Given the description of an element on the screen output the (x, y) to click on. 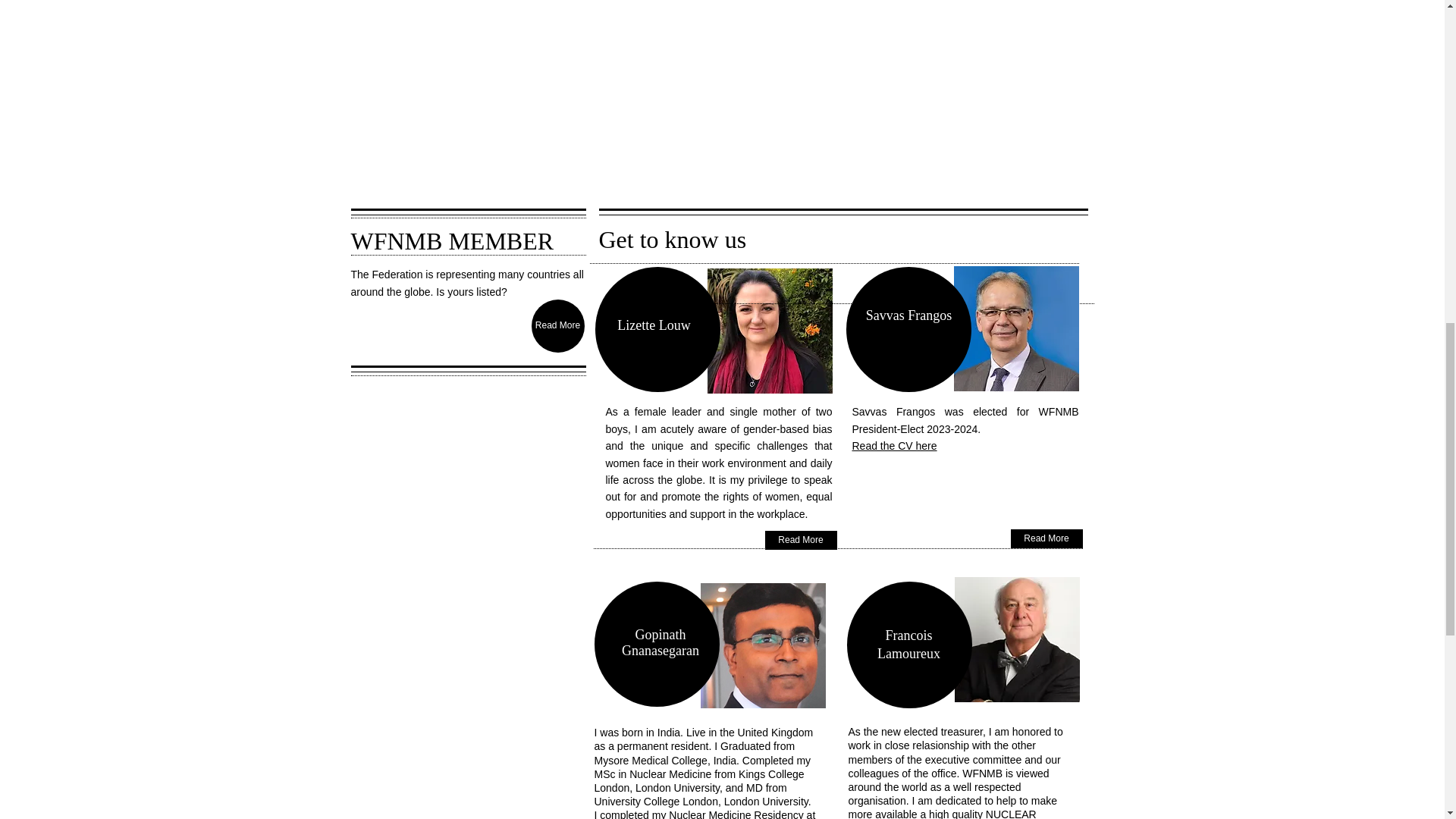
Read More (799, 539)
Read More (1045, 538)
Read More (557, 325)
Read the CV here (894, 444)
